Given the description of an element on the screen output the (x, y) to click on. 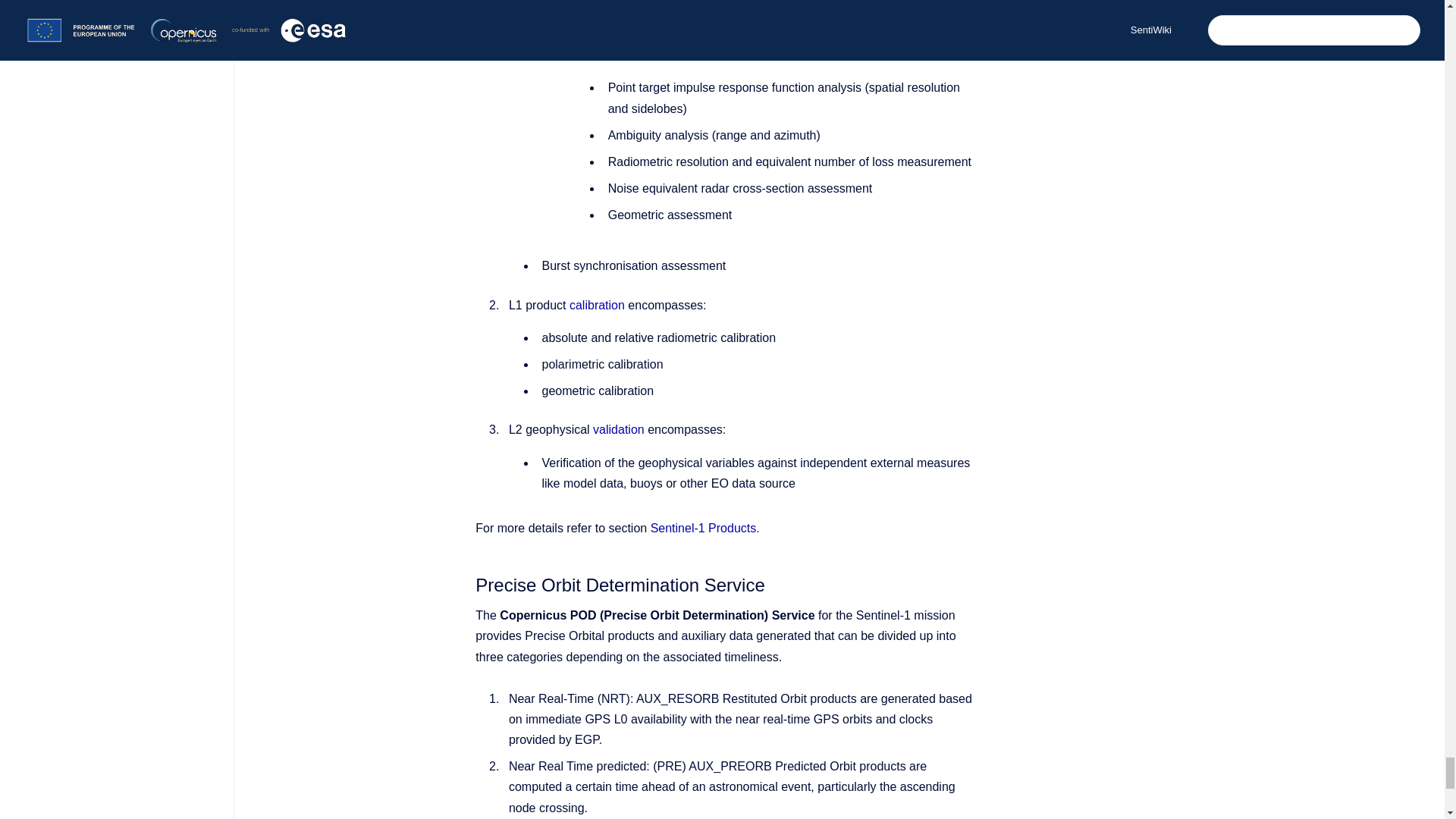
validation (618, 429)
calibration (596, 305)
Sentinel-1 Products (703, 527)
